Given the description of an element on the screen output the (x, y) to click on. 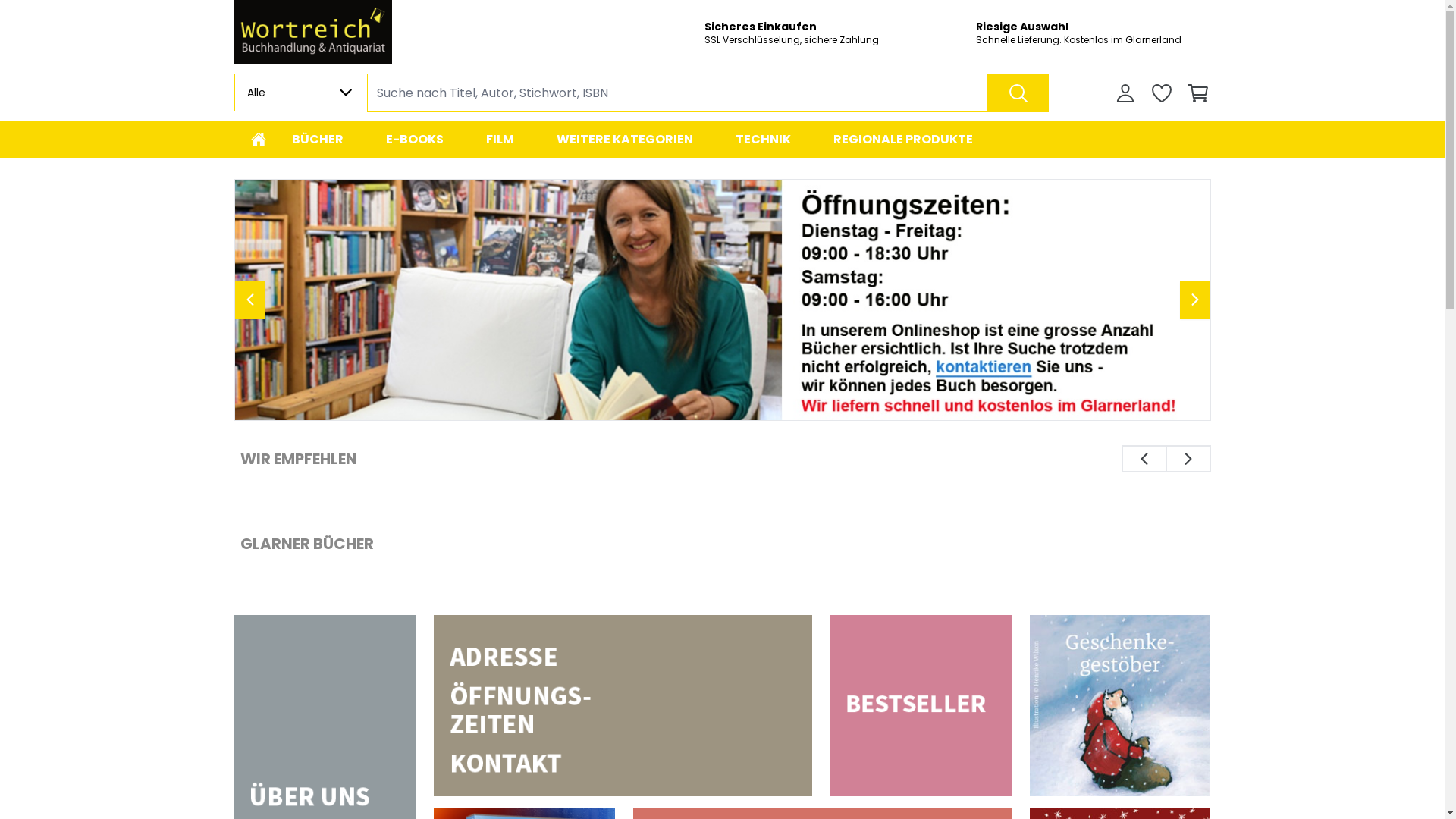
Riesige Auswahl Element type: text (1092, 26)
REGIONALE PRODUKTE Element type: text (902, 139)
Schnelle Lieferung. Kostenlos im Glarnerland Element type: text (1092, 40)
FILM Element type: text (499, 139)
WEITERE KATEGORIEN Element type: text (624, 139)
TECHNIK Element type: text (763, 139)
E-BOOKS Element type: text (413, 139)
